Given the description of an element on the screen output the (x, y) to click on. 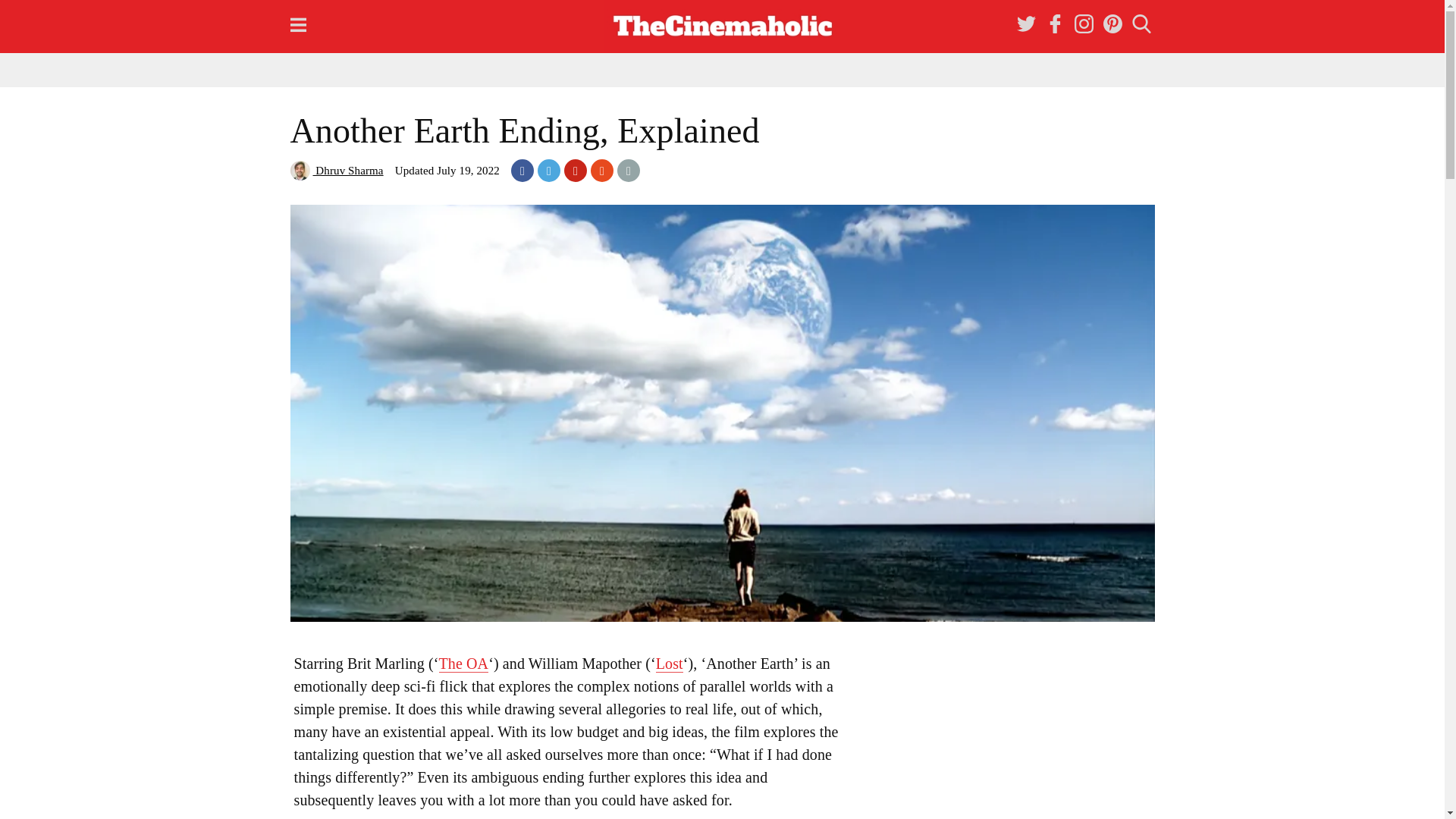
Lost (669, 663)
The OA (462, 663)
Dhruv Sharma (335, 170)
